Given the description of an element on the screen output the (x, y) to click on. 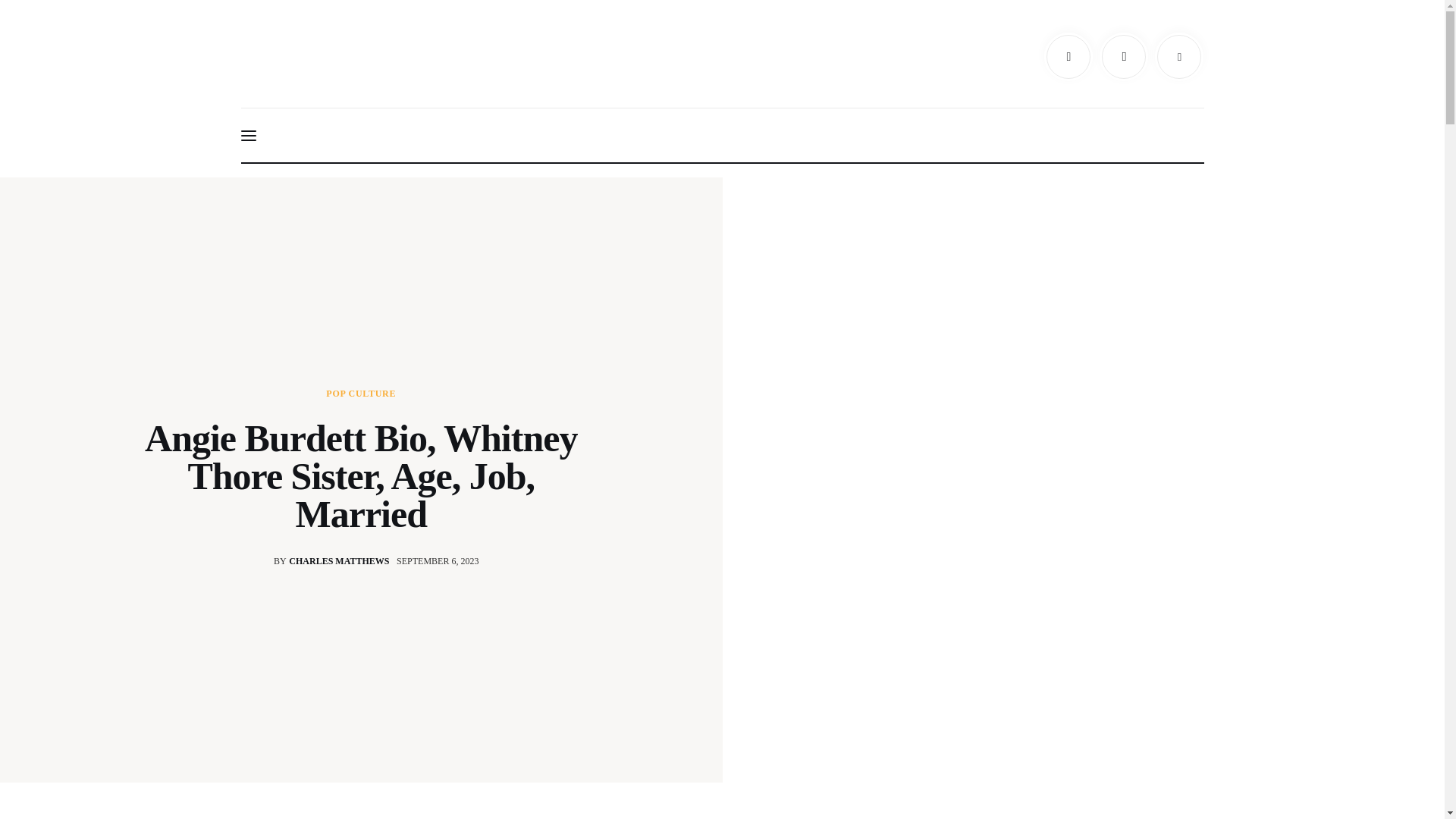
POP CULTURE (319, 560)
